Given the description of an element on the screen output the (x, y) to click on. 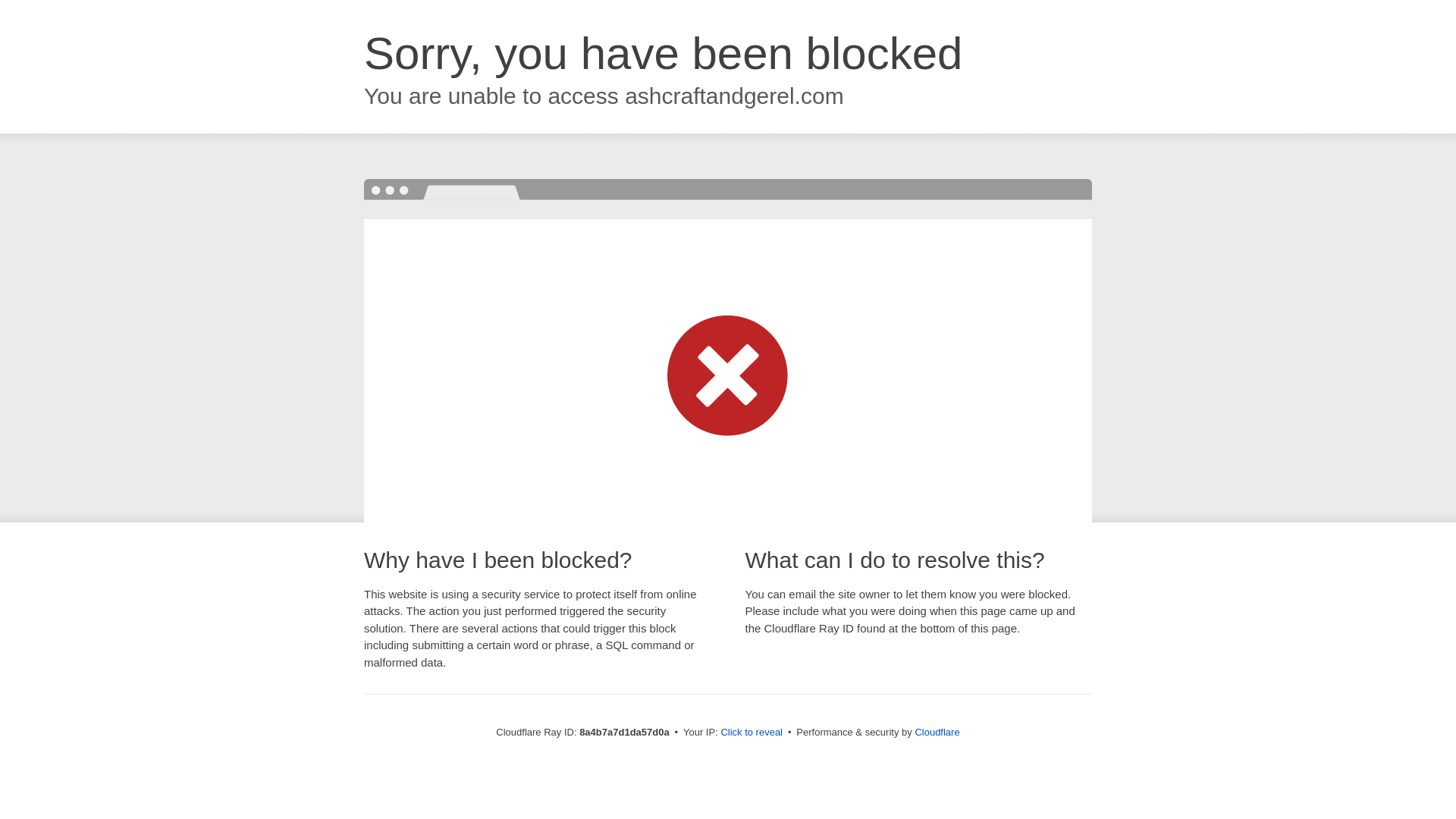
Cloudflare (936, 731)
Click to reveal (751, 732)
